Given the description of an element on the screen output the (x, y) to click on. 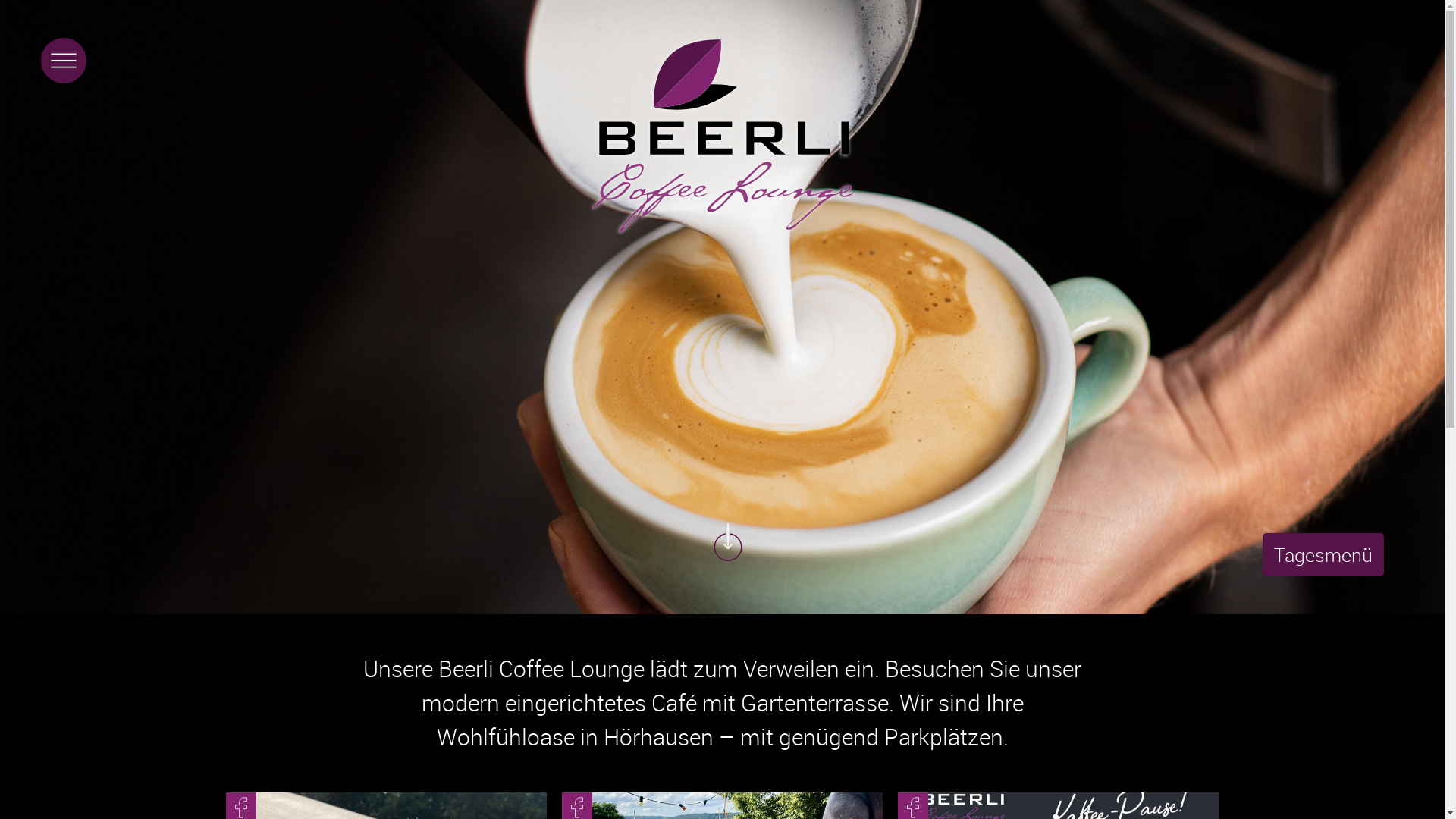
Startseite Element type: hover (722, 135)
